Given the description of an element on the screen output the (x, y) to click on. 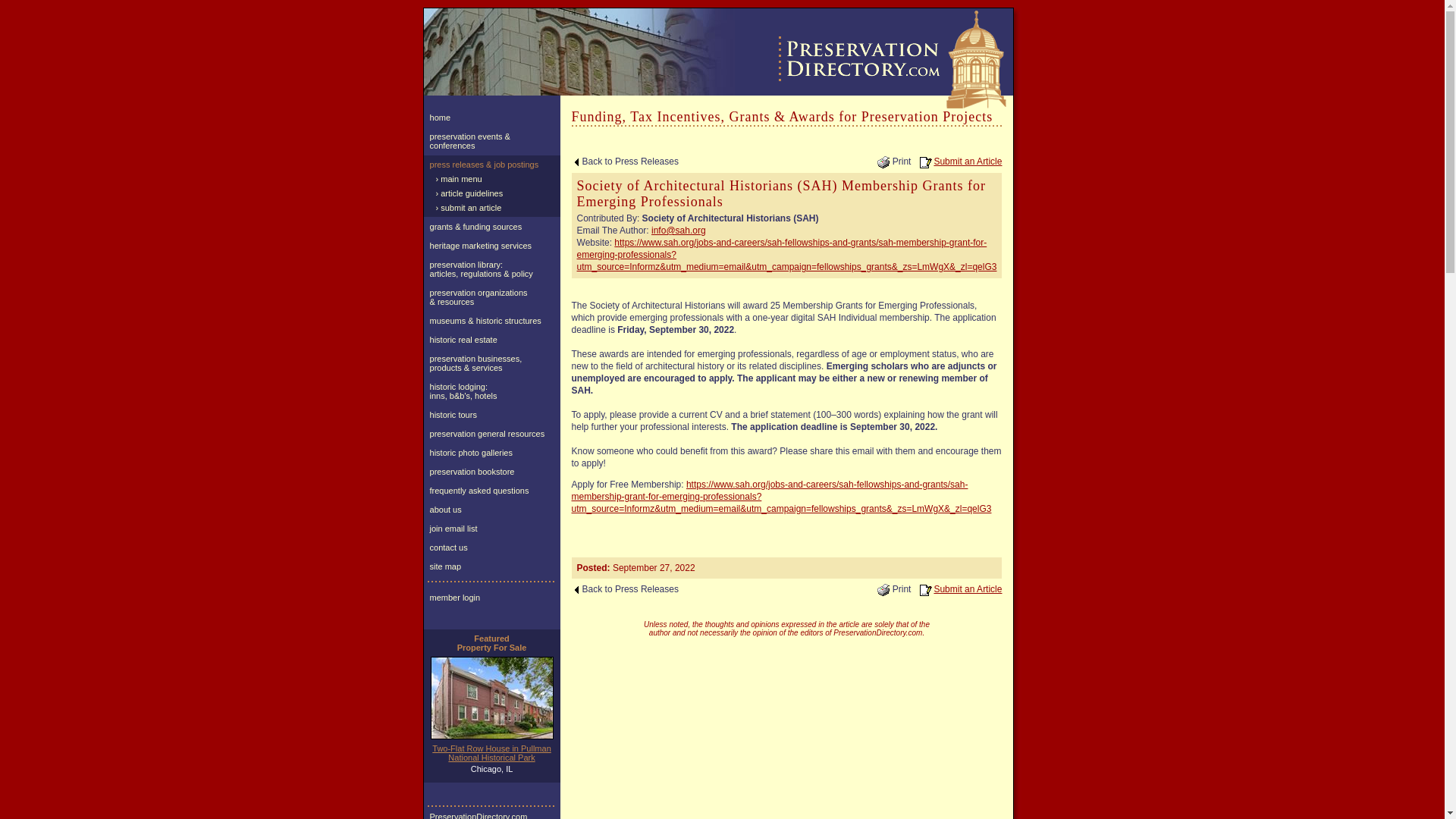
join email list (491, 528)
Two-Flat Row House in Pullman National Historical Park (491, 752)
frequently asked questions (491, 490)
heritage marketing services (491, 245)
home (491, 117)
historic photo galleries (491, 452)
preservation bookstore (491, 471)
member login (491, 597)
historic tours (491, 414)
preservation general resources (491, 434)
